Given the description of an element on the screen output the (x, y) to click on. 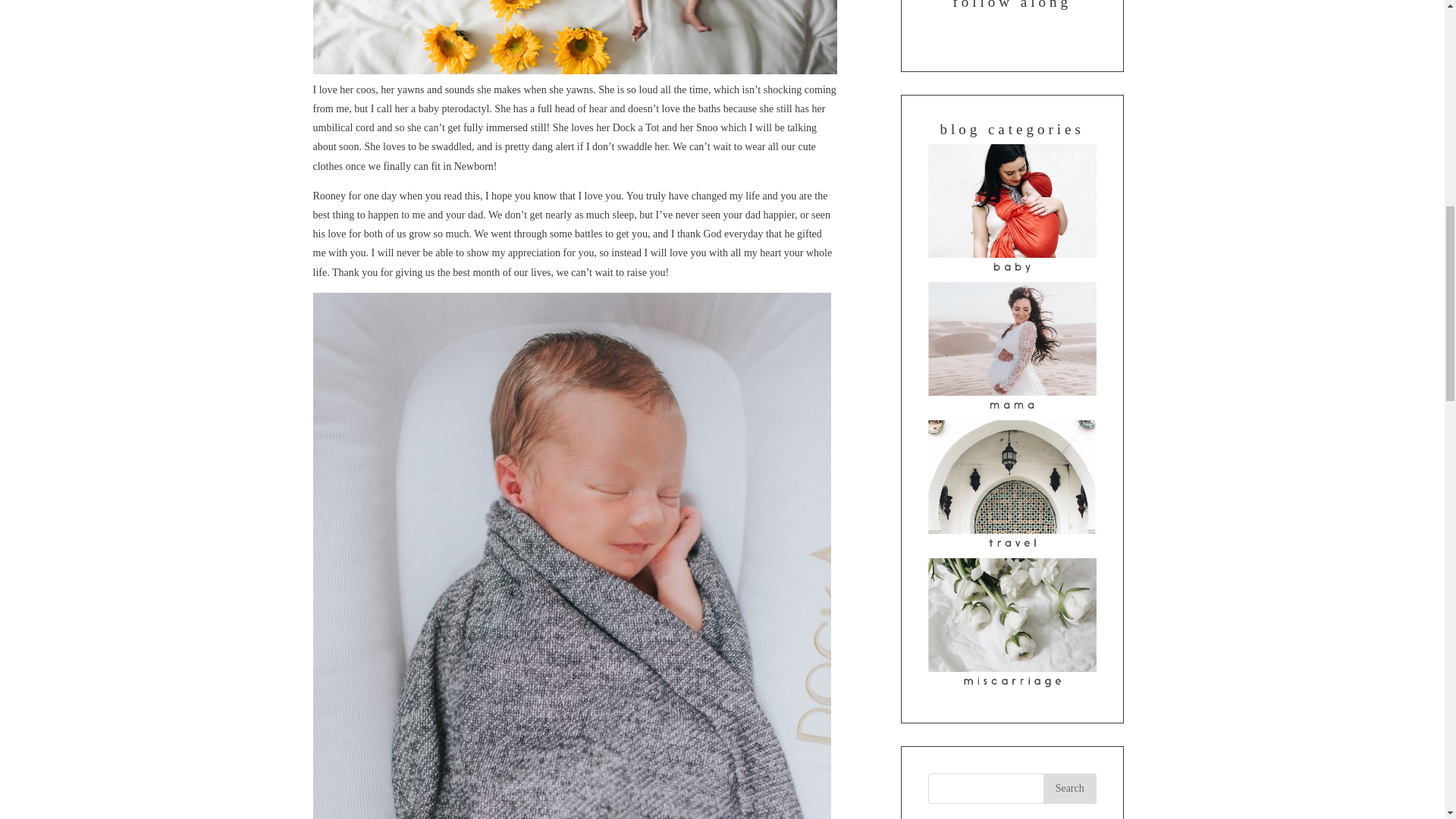
Search (1069, 788)
